Given the description of an element on the screen output the (x, y) to click on. 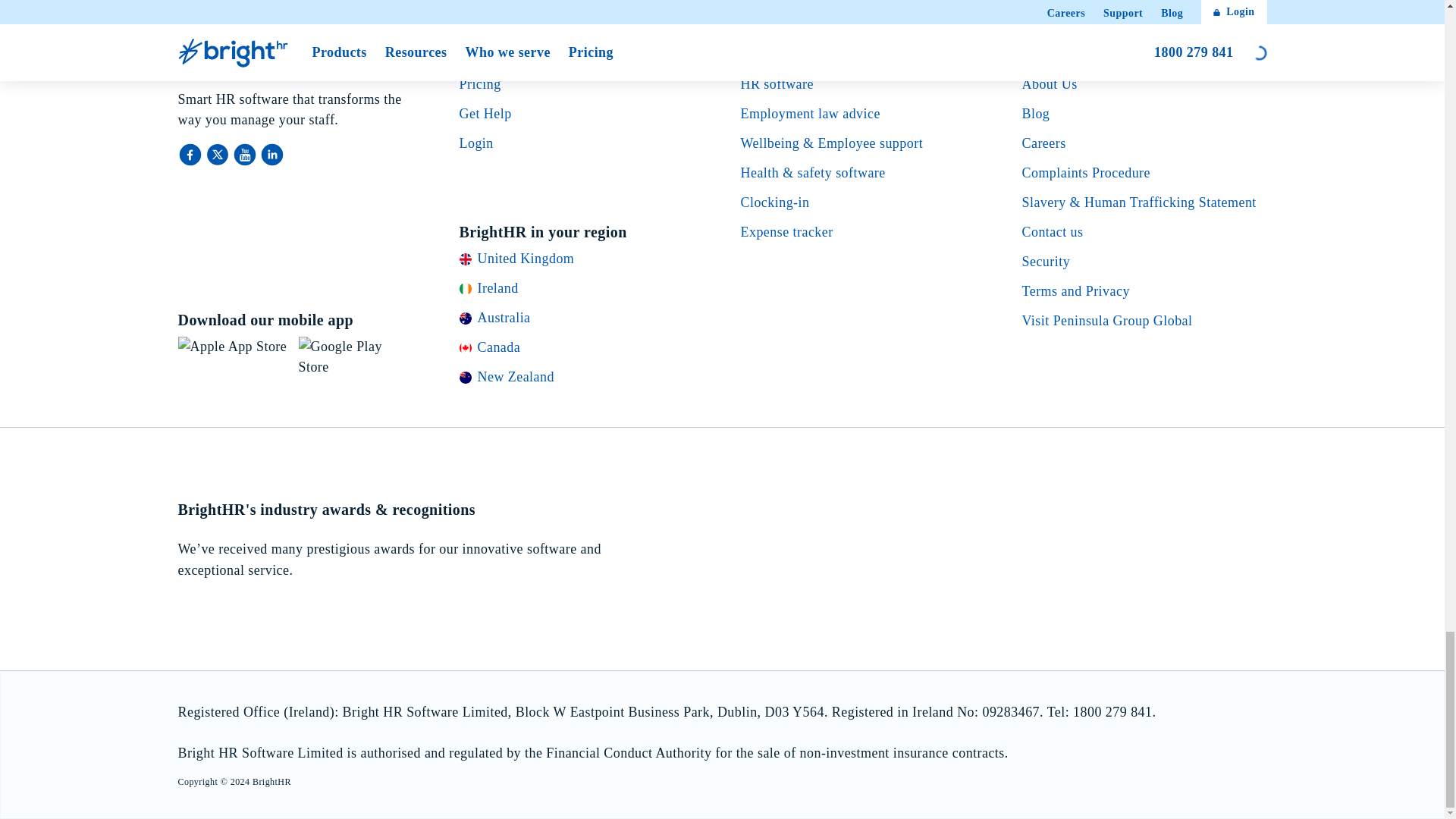
Twitter (218, 154)
Facebook (191, 154)
Login (476, 142)
Youtube (245, 154)
Pricing (480, 83)
LinkedIn (271, 154)
Get Help (486, 113)
